Given the description of an element on the screen output the (x, y) to click on. 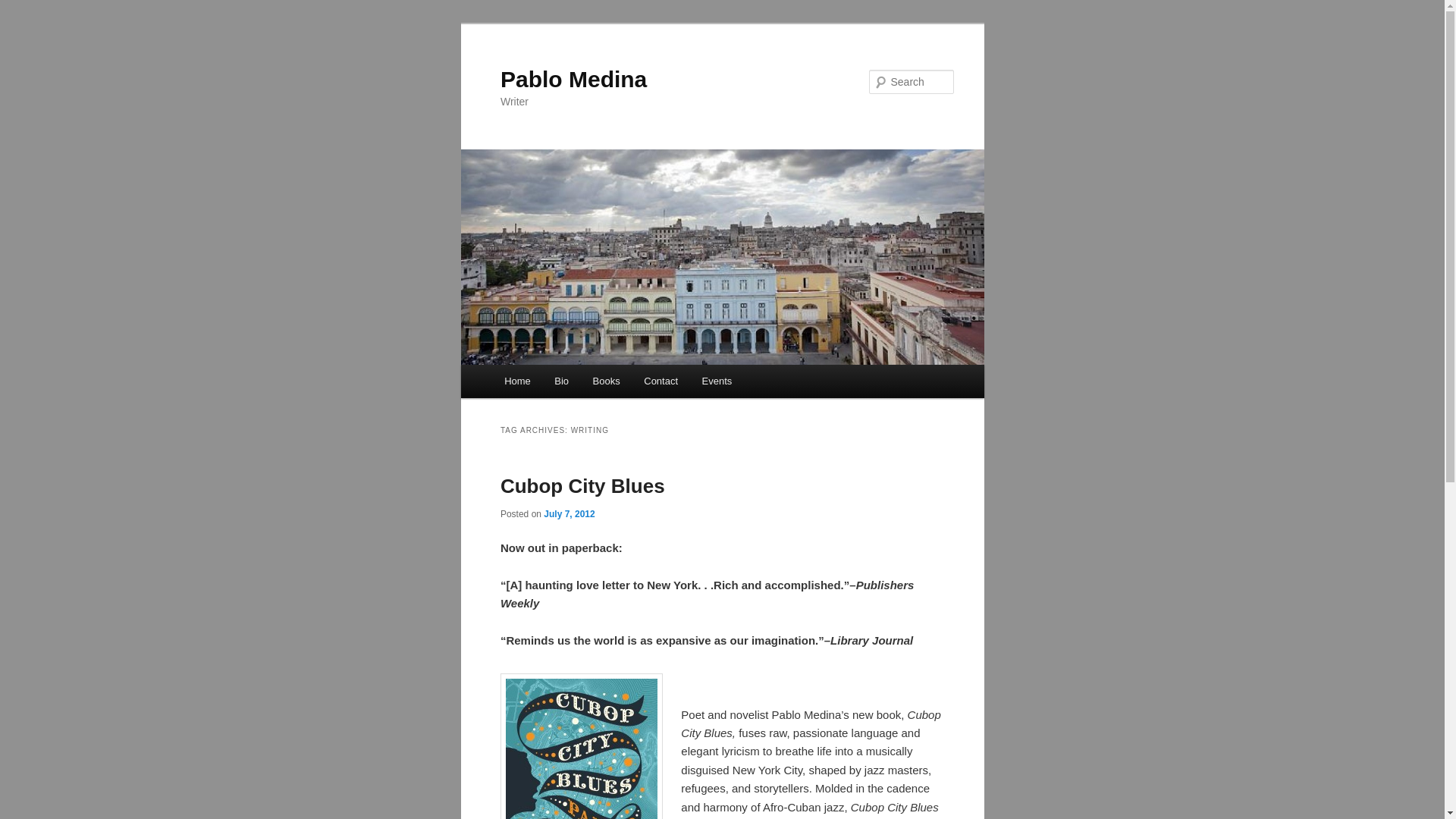
Skip to secondary content (579, 383)
Permalink to Cubop City Blues (582, 486)
6:02 pm (568, 513)
Contact (660, 380)
July 7, 2012 (568, 513)
Books (605, 380)
Pablo Medina (573, 78)
Skip to primary content (572, 383)
Cubop City Blues (582, 486)
Skip to primary content (572, 383)
